Given the description of an element on the screen output the (x, y) to click on. 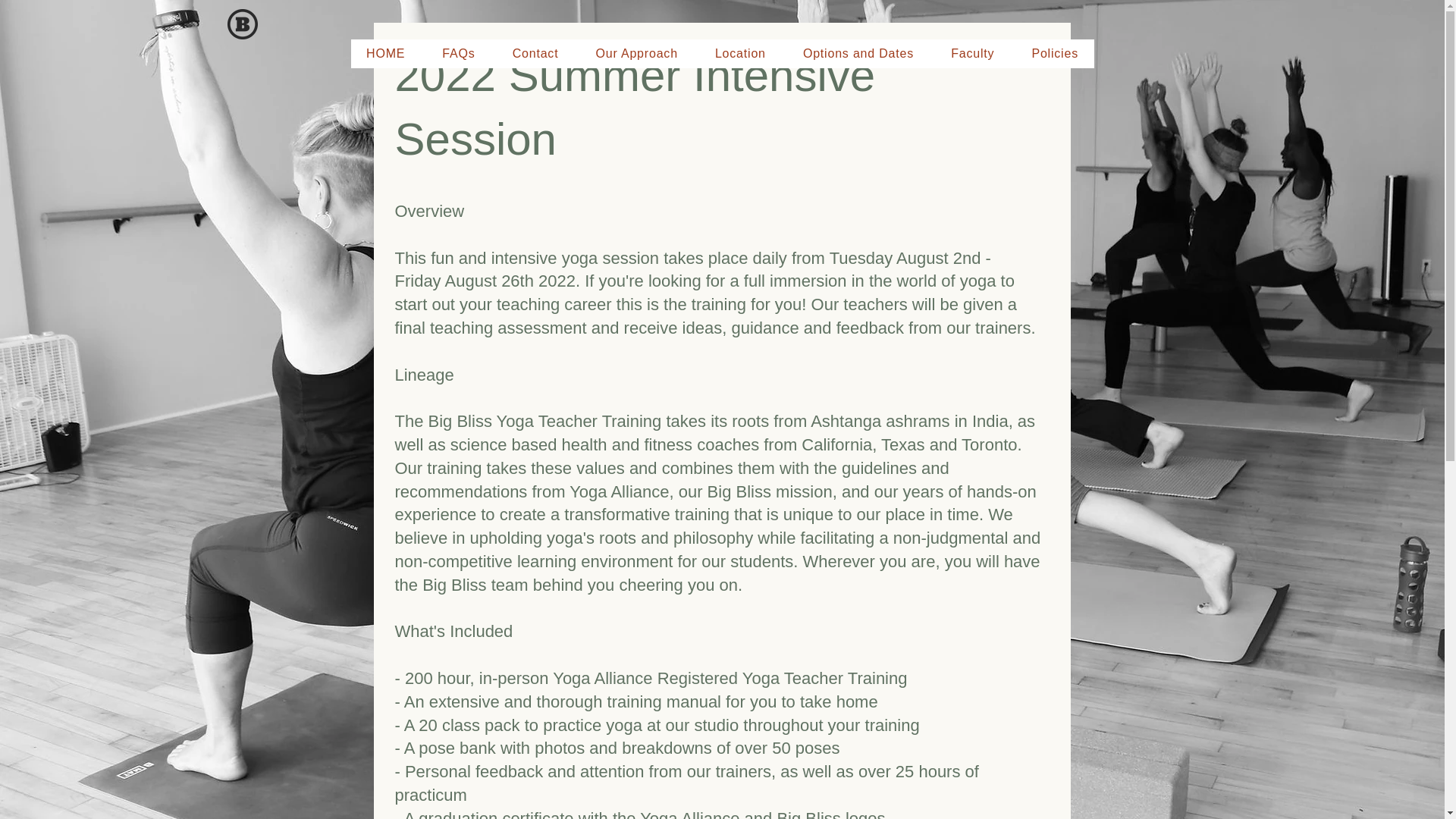
Location (739, 53)
FAQs (458, 53)
Faculty (973, 53)
Contact (534, 53)
HOME (385, 53)
Our Approach (636, 53)
Options and Dates (857, 53)
Policies (1055, 53)
